Given the description of an element on the screen output the (x, y) to click on. 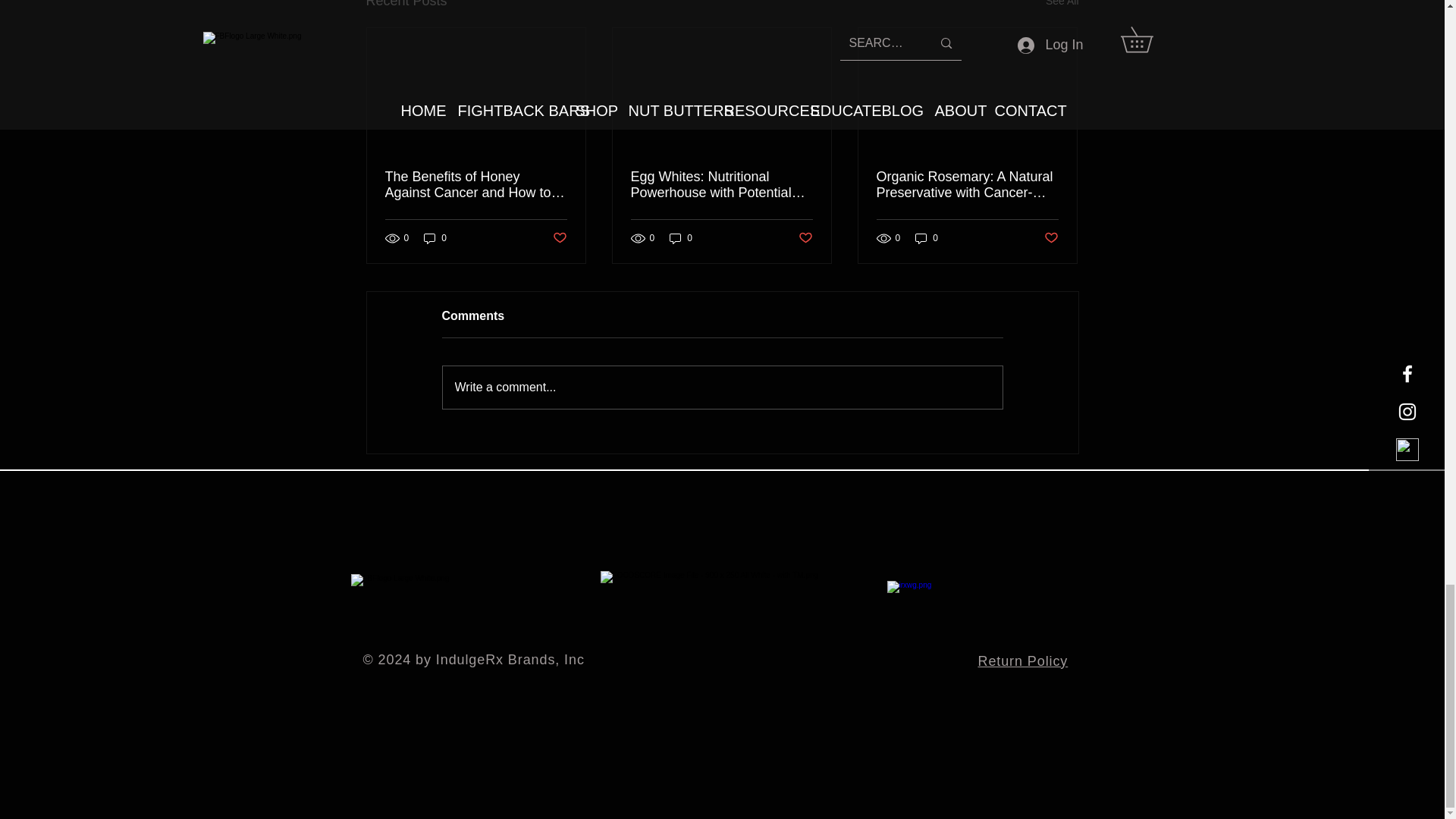
Post not marked as liked (558, 237)
0 (435, 237)
0 (681, 237)
0 (926, 237)
Write a comment... (722, 387)
See All (1061, 6)
Post not marked as liked (804, 237)
Post not marked as liked (1050, 237)
